Given the description of an element on the screen output the (x, y) to click on. 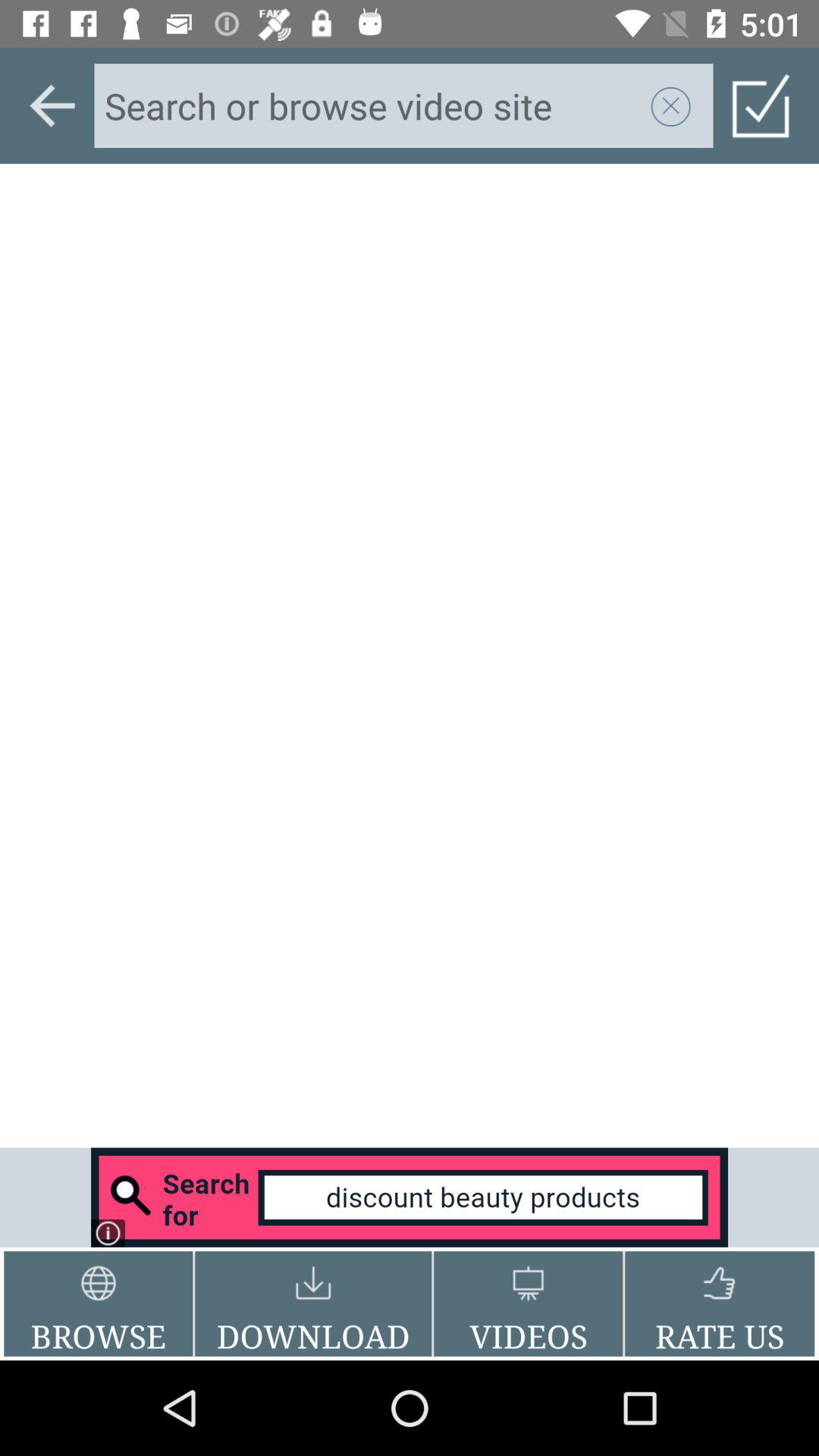
go back to previous (52, 105)
